Given the description of an element on the screen output the (x, y) to click on. 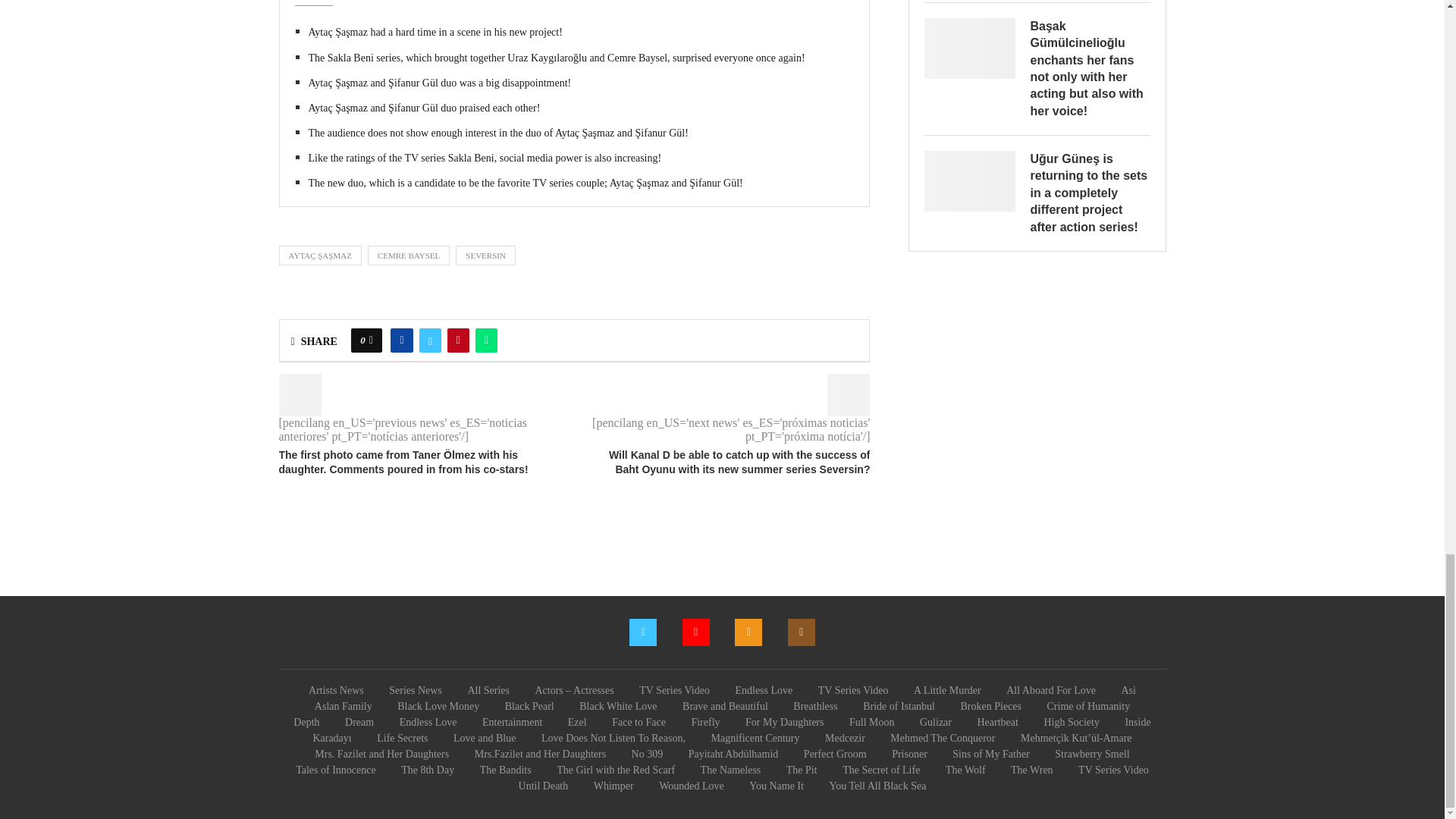
CEMRE BAYSEL (408, 255)
